Given the description of an element on the screen output the (x, y) to click on. 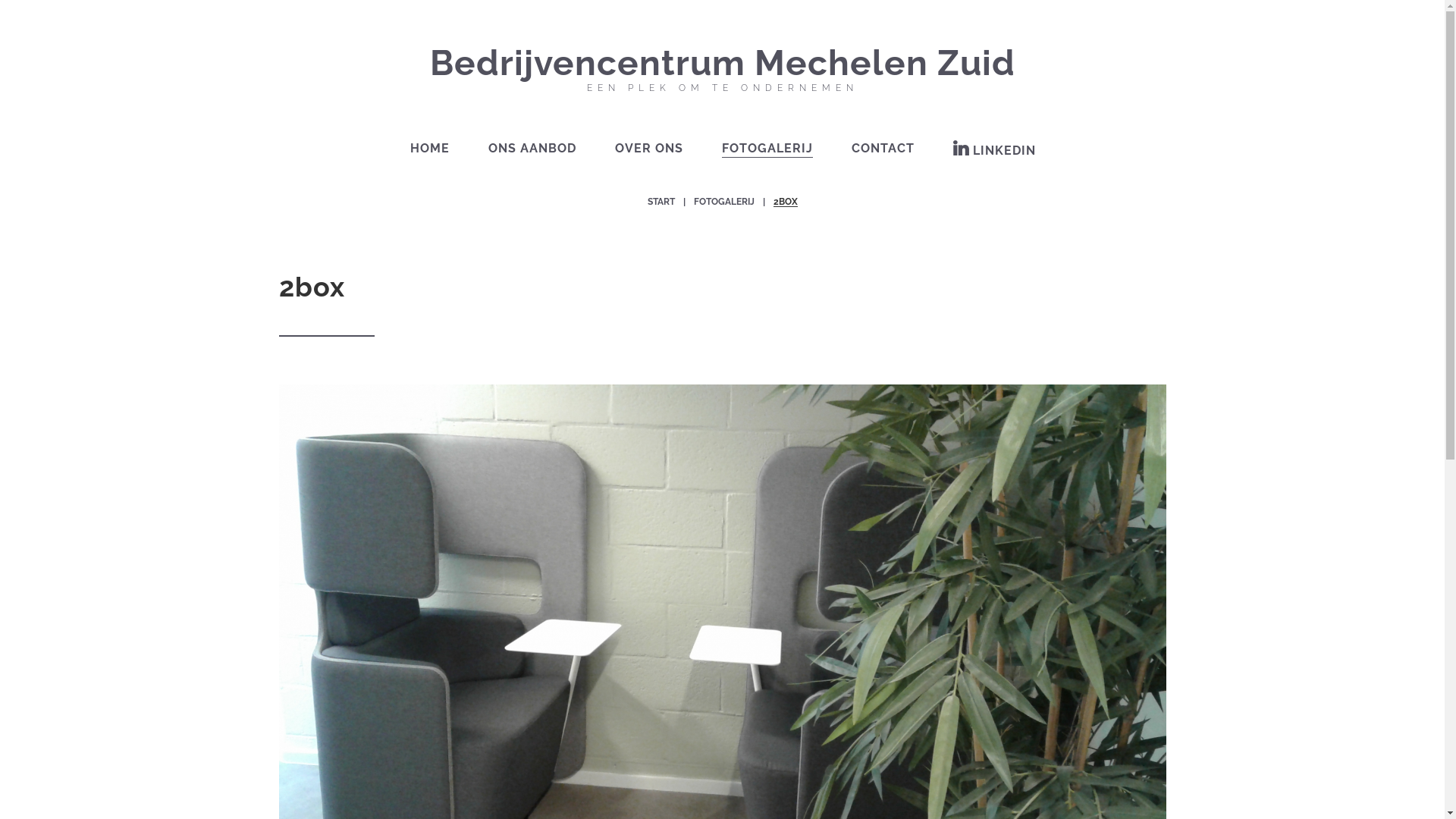
FOTOGALERIJ Element type: text (723, 201)
Bedrijvencentrum Mechelen Zuid Element type: text (721, 62)
CONTACT Element type: text (881, 148)
OVER ONS Element type: text (648, 148)
START Element type: text (660, 201)
FOTOGALERIJ Element type: text (766, 148)
HOME Element type: text (428, 148)
LINKEDIN Element type: text (993, 149)
ONS AANBOD Element type: text (532, 148)
